Given the description of an element on the screen output the (x, y) to click on. 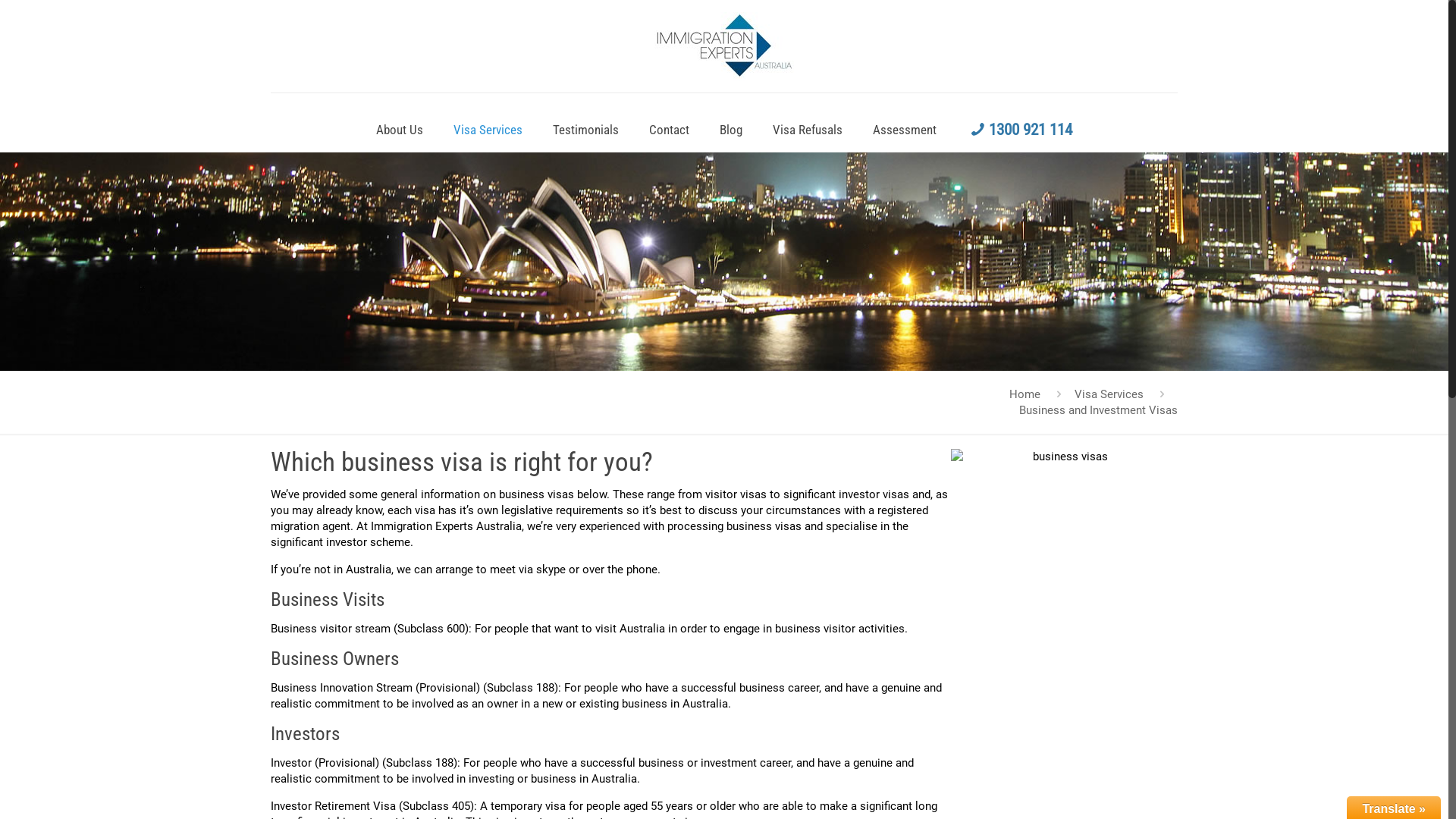
Assessment Element type: text (904, 129)
1300 921 114 Element type: text (1019, 129)
Testimonials Element type: text (585, 129)
Contact Element type: text (668, 129)
Visa Refusals Element type: text (807, 129)
Immigration Experts Australia Element type: hover (724, 46)
Home Element type: text (1024, 394)
Visa Services Element type: text (487, 129)
Blog Element type: text (730, 129)
About Us Element type: text (399, 129)
Visa Services Element type: text (1108, 394)
